Given the description of an element on the screen output the (x, y) to click on. 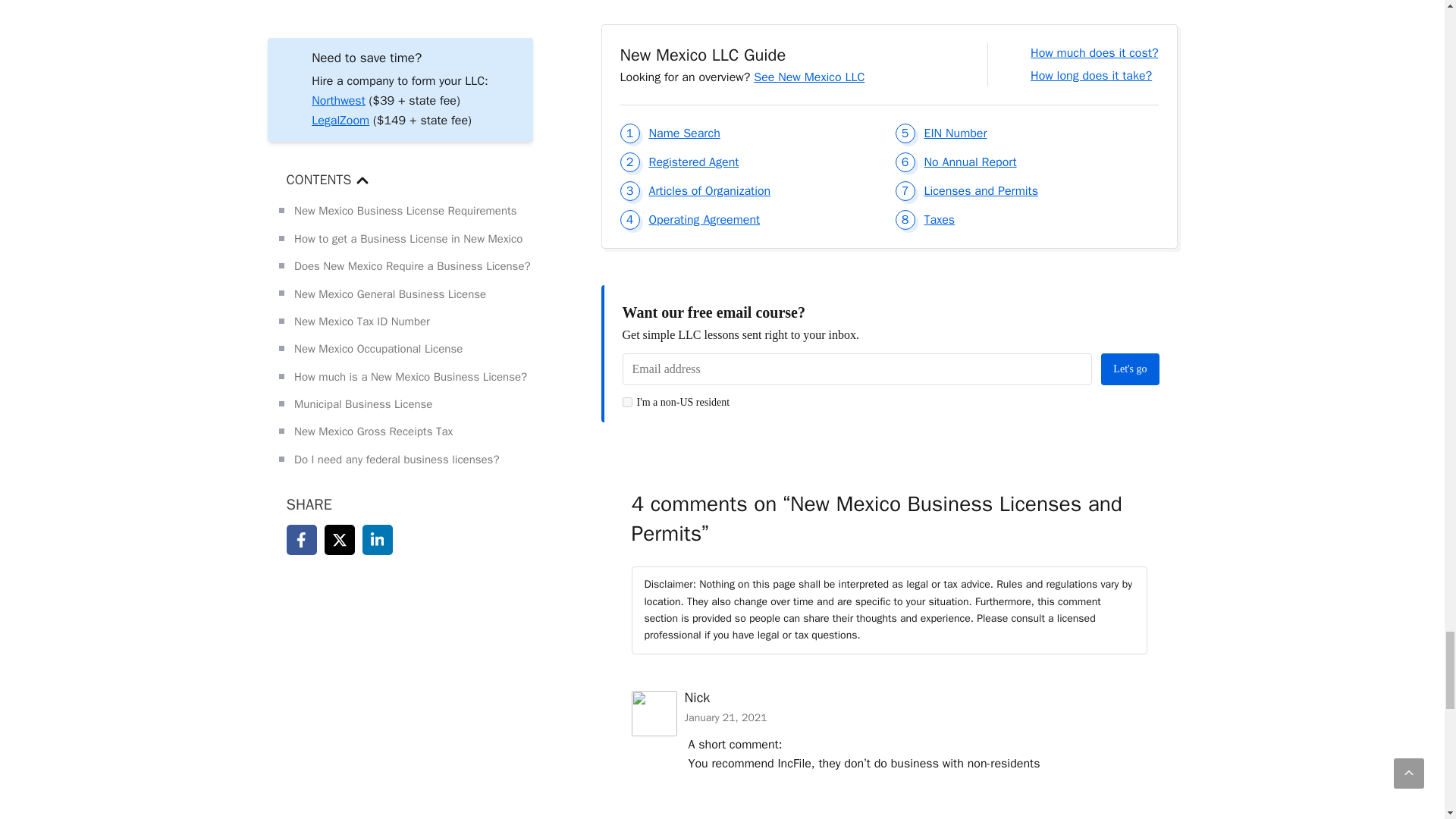
on (626, 402)
